Given the description of an element on the screen output the (x, y) to click on. 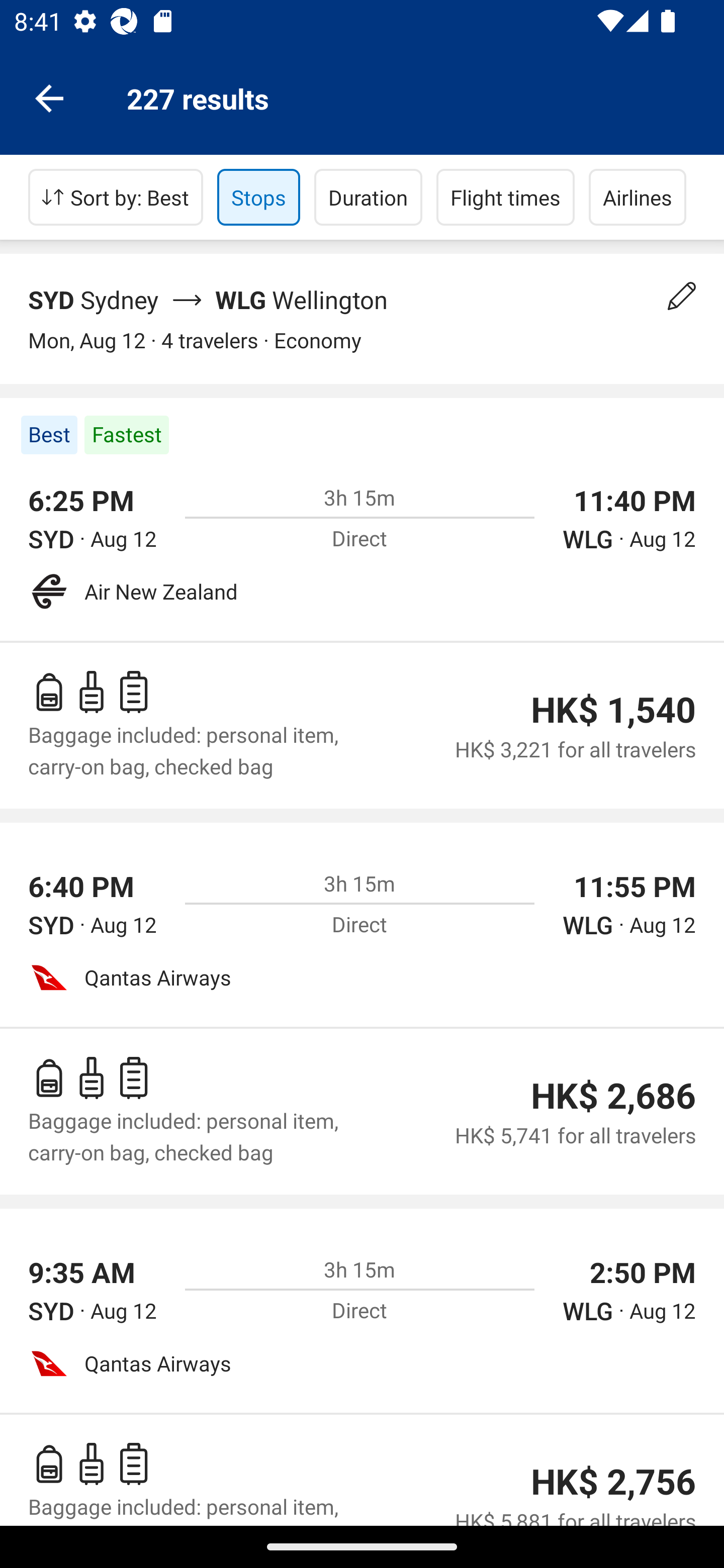
Navigate up (49, 97)
Sort by: Best (115, 197)
Stops (258, 197)
Duration (368, 197)
Flight times (505, 197)
Airlines (637, 197)
Change your search details (681, 296)
HK$ 1,540 (612, 710)
HK$ 2,686 (612, 1095)
HK$ 2,756 (612, 1481)
